Given the description of an element on the screen output the (x, y) to click on. 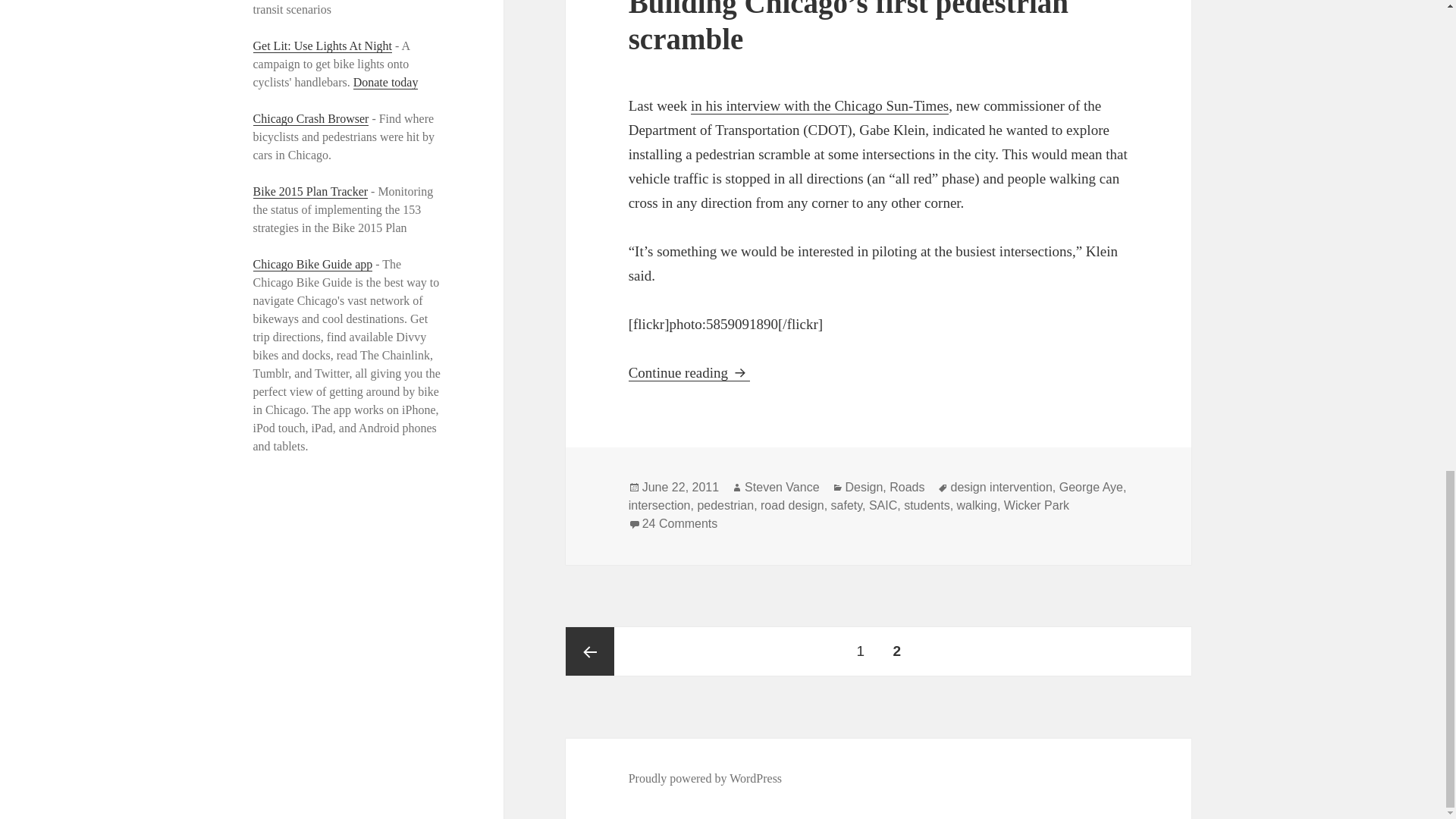
Donate today (386, 82)
Chicago Crash Browser (311, 119)
Bike 2015 Plan Tracker (310, 192)
Get Lit: Use Lights At Night (323, 46)
Chicago Bike Guide app (312, 264)
